Given the description of an element on the screen output the (x, y) to click on. 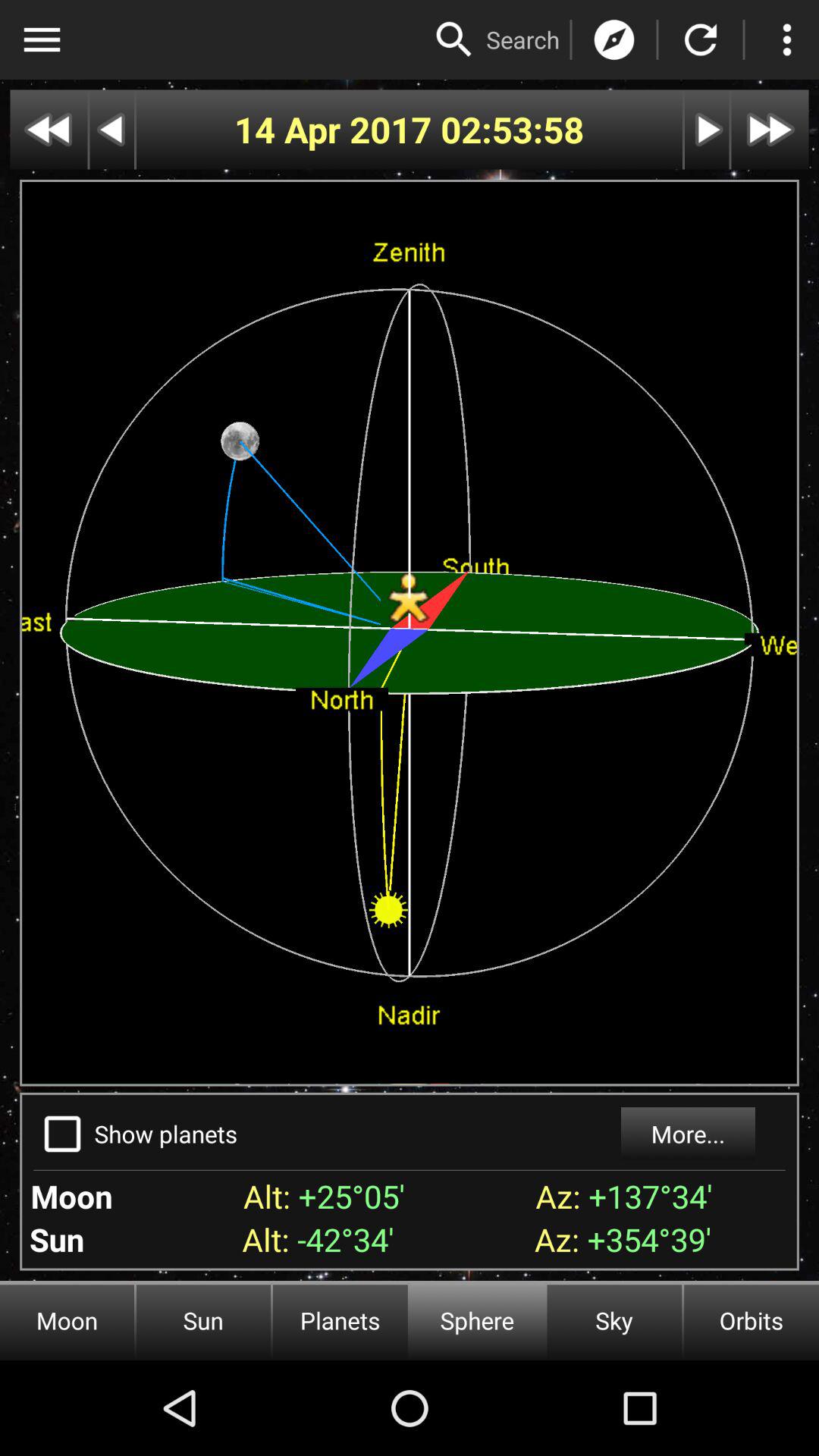
replay option (700, 39)
